Given the description of an element on the screen output the (x, y) to click on. 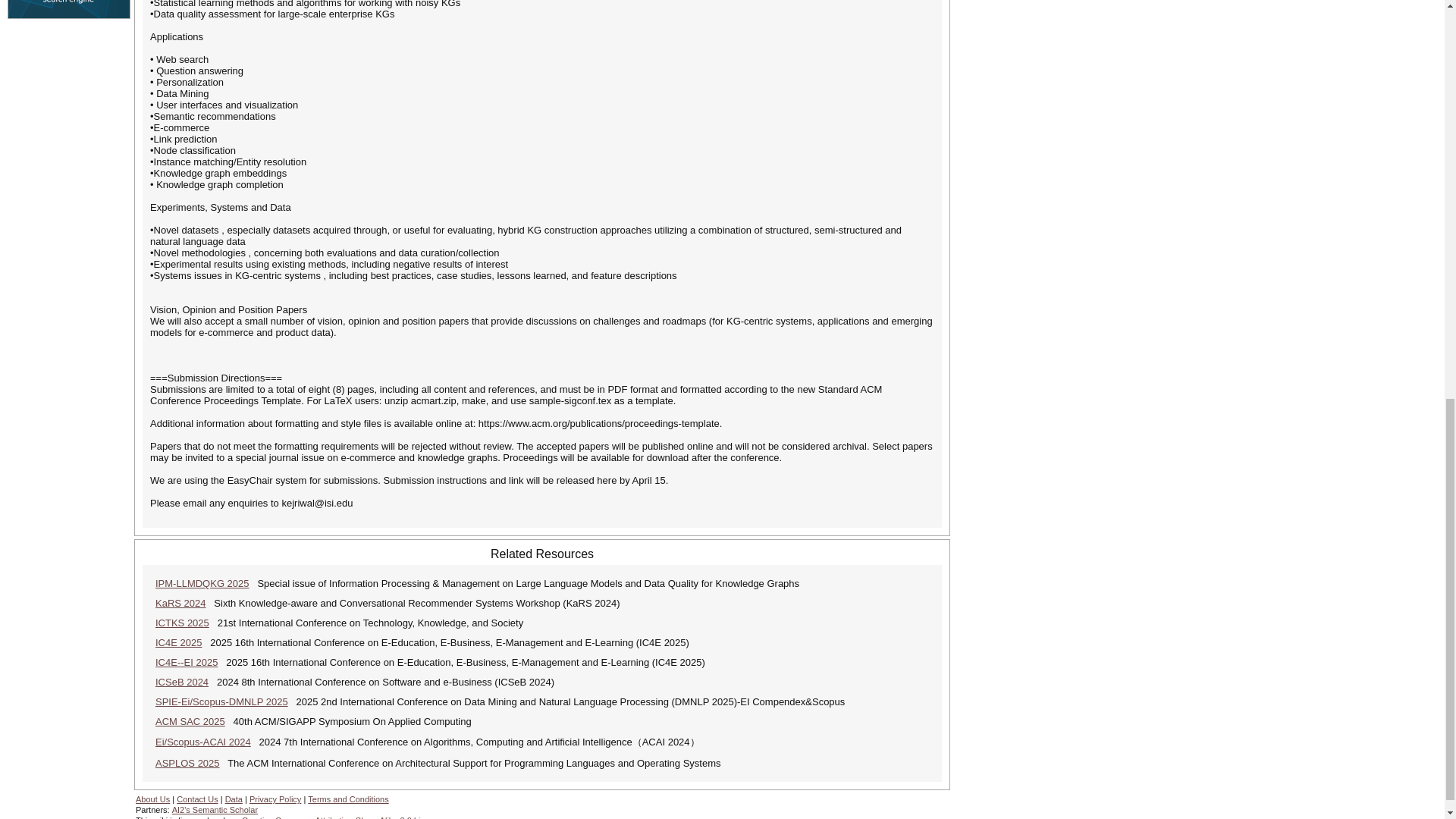
IC4E 2025 (178, 642)
ICTKS 2025 (182, 622)
KaRS 2024 (180, 603)
IPM-LLMDQKG 2025 (201, 583)
